Given the description of an element on the screen output the (x, y) to click on. 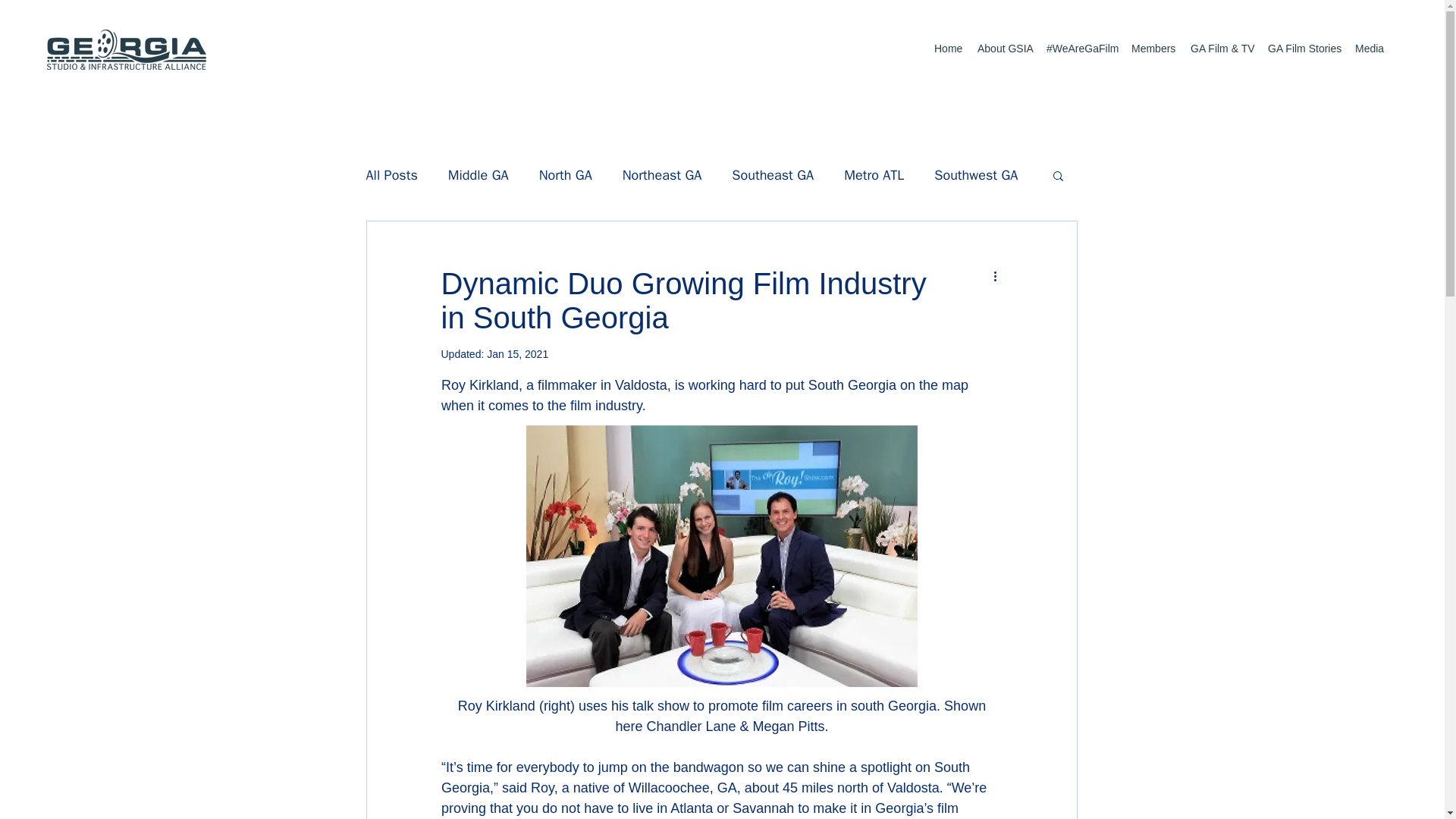
Southwest GA (975, 175)
About GSIA (1004, 48)
Northeast GA (662, 175)
North GA (565, 175)
Home (947, 48)
GA Film Stories (1304, 48)
Media (1369, 48)
Jan 15, 2021 (517, 354)
Metro ATL (874, 175)
Members (1153, 48)
